Given the description of an element on the screen output the (x, y) to click on. 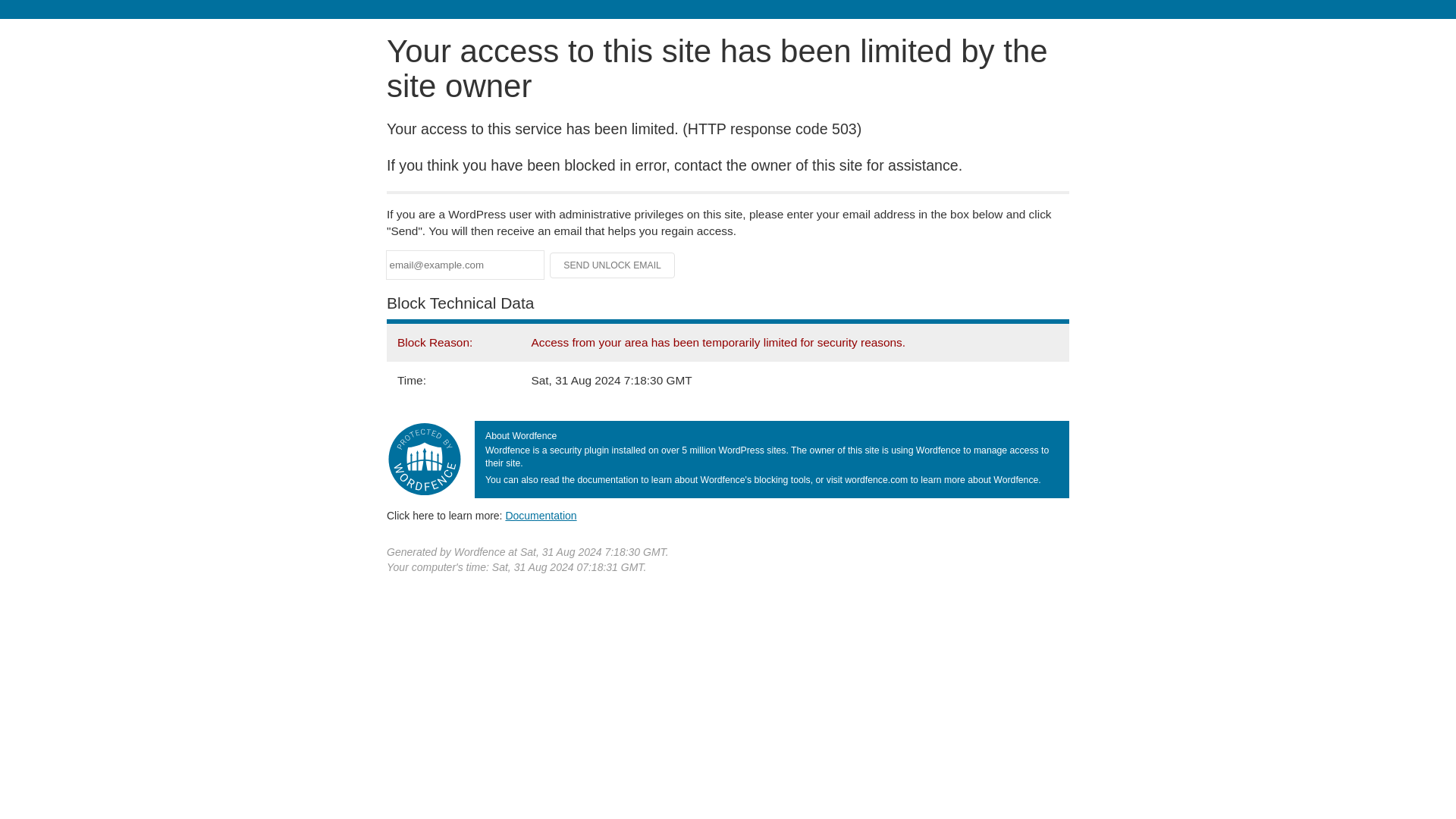
Documentation (540, 515)
Send Unlock Email (612, 265)
Send Unlock Email (612, 265)
